Given the description of an element on the screen output the (x, y) to click on. 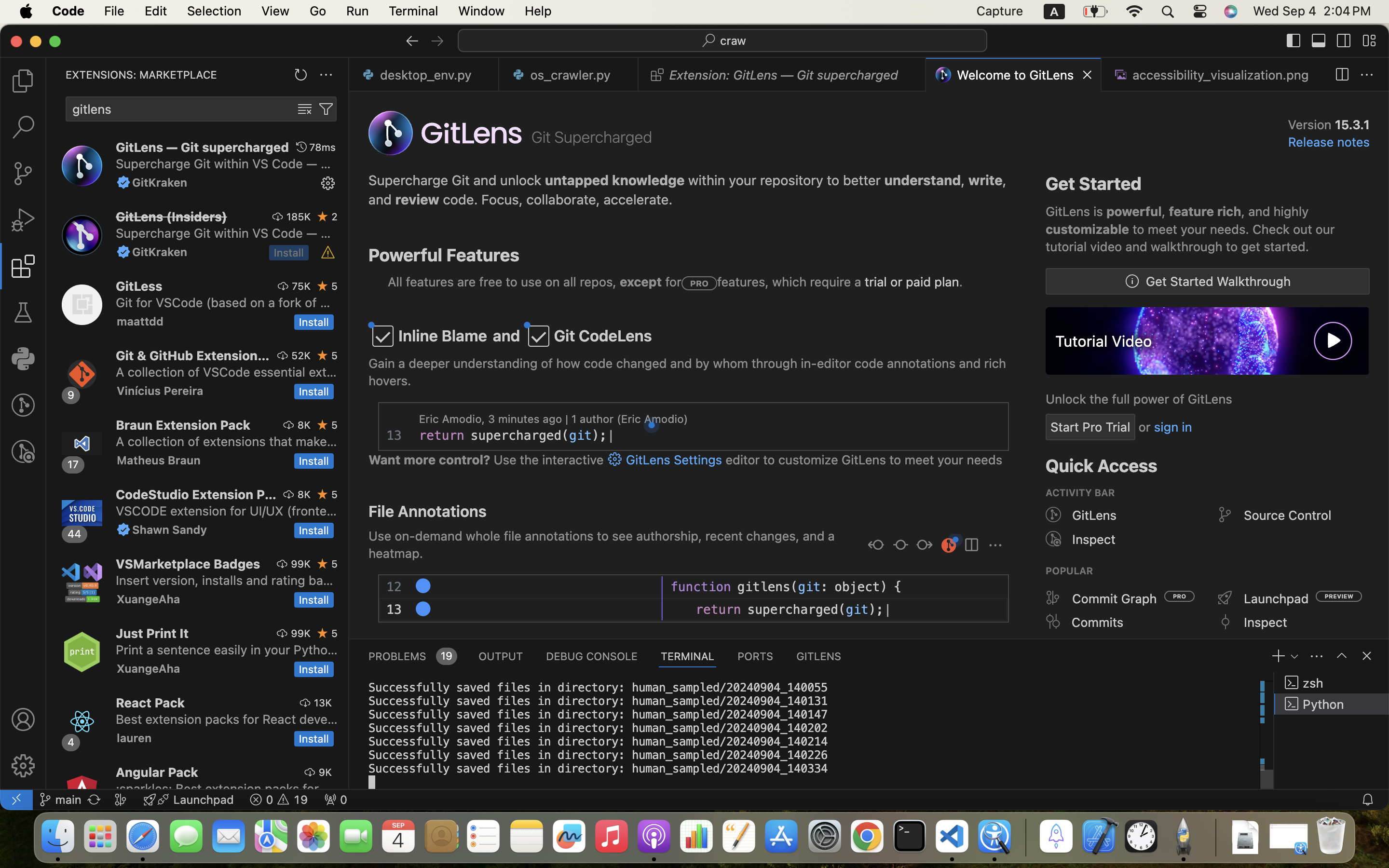
object Element type: AXStaticText (857, 586)
Launchpad   Element type: AXButton (188, 799)
12 Element type: AXStaticText (394, 586)
 Element type: AXStaticText (22, 765)
 Element type: AXStaticText (22, 719)
